Given the description of an element on the screen output the (x, y) to click on. 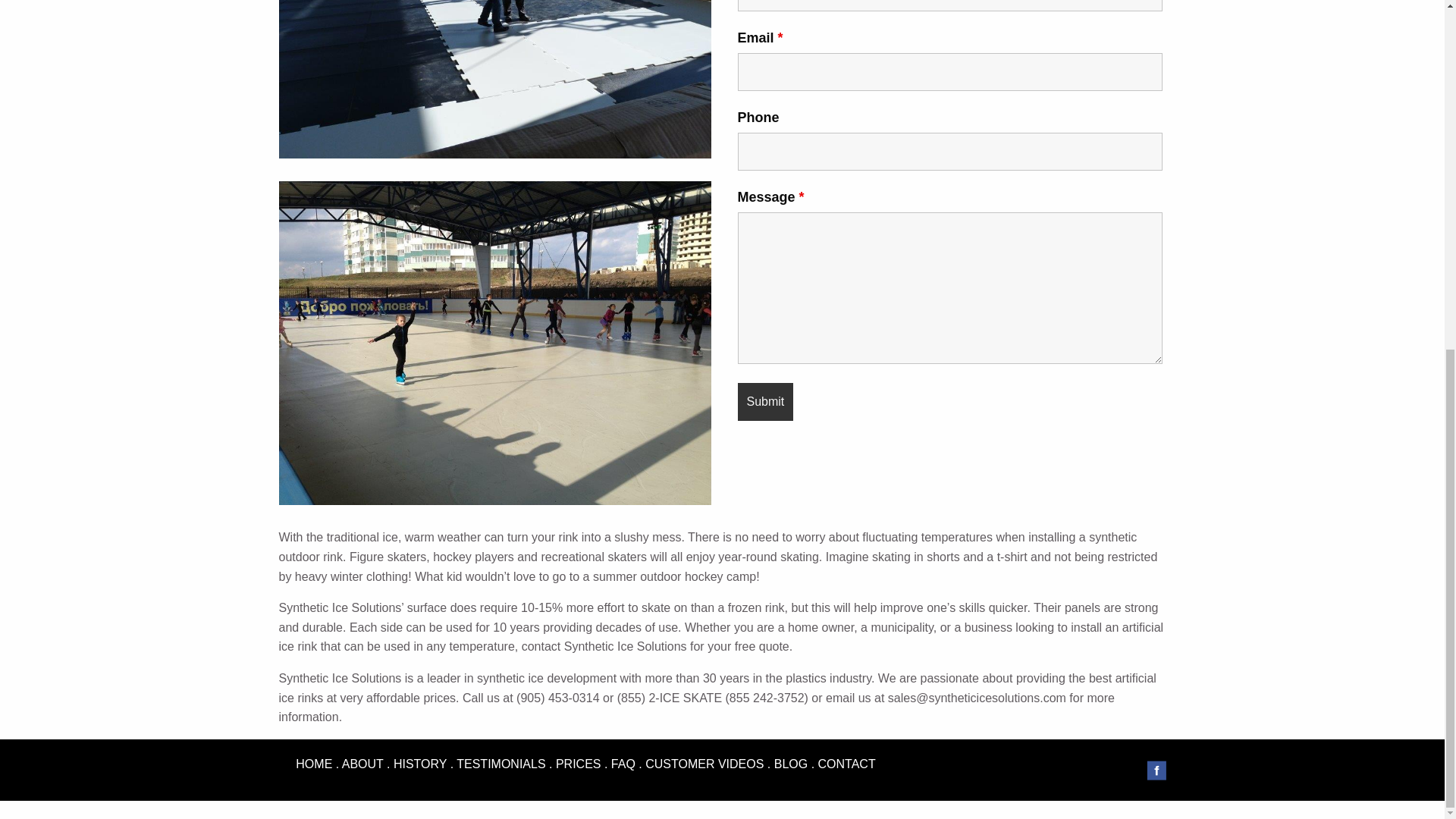
BLOG (791, 763)
Submit (764, 401)
ABOUT (363, 763)
HISTORY (419, 763)
CUSTOMER VIDEOS (703, 763)
HOME (313, 763)
Submit (764, 401)
Belarus install (495, 79)
TESTIMONIALS (500, 763)
PRICES (578, 763)
CONTACT (847, 763)
Facebook Icon (1156, 770)
FAQ (622, 763)
